Given the description of an element on the screen output the (x, y) to click on. 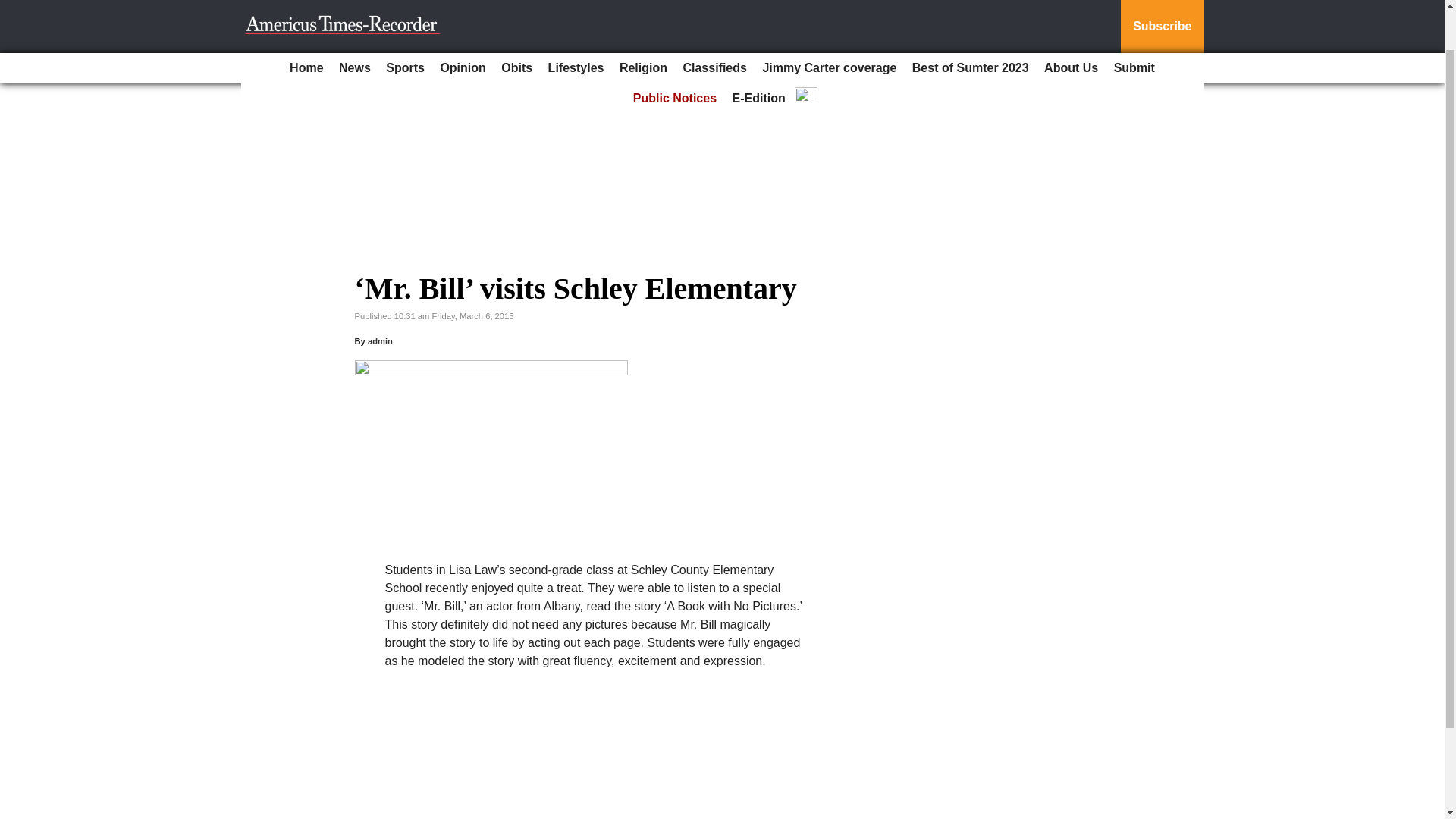
E-Edition (759, 51)
Sports (405, 20)
News (355, 20)
Subscribe (1162, 2)
Lifestyles (575, 20)
Obits (516, 20)
Best of Sumter 2023 (970, 20)
Opinion (462, 20)
Public Notices (674, 51)
Classifieds (714, 20)
